Given the description of an element on the screen output the (x, y) to click on. 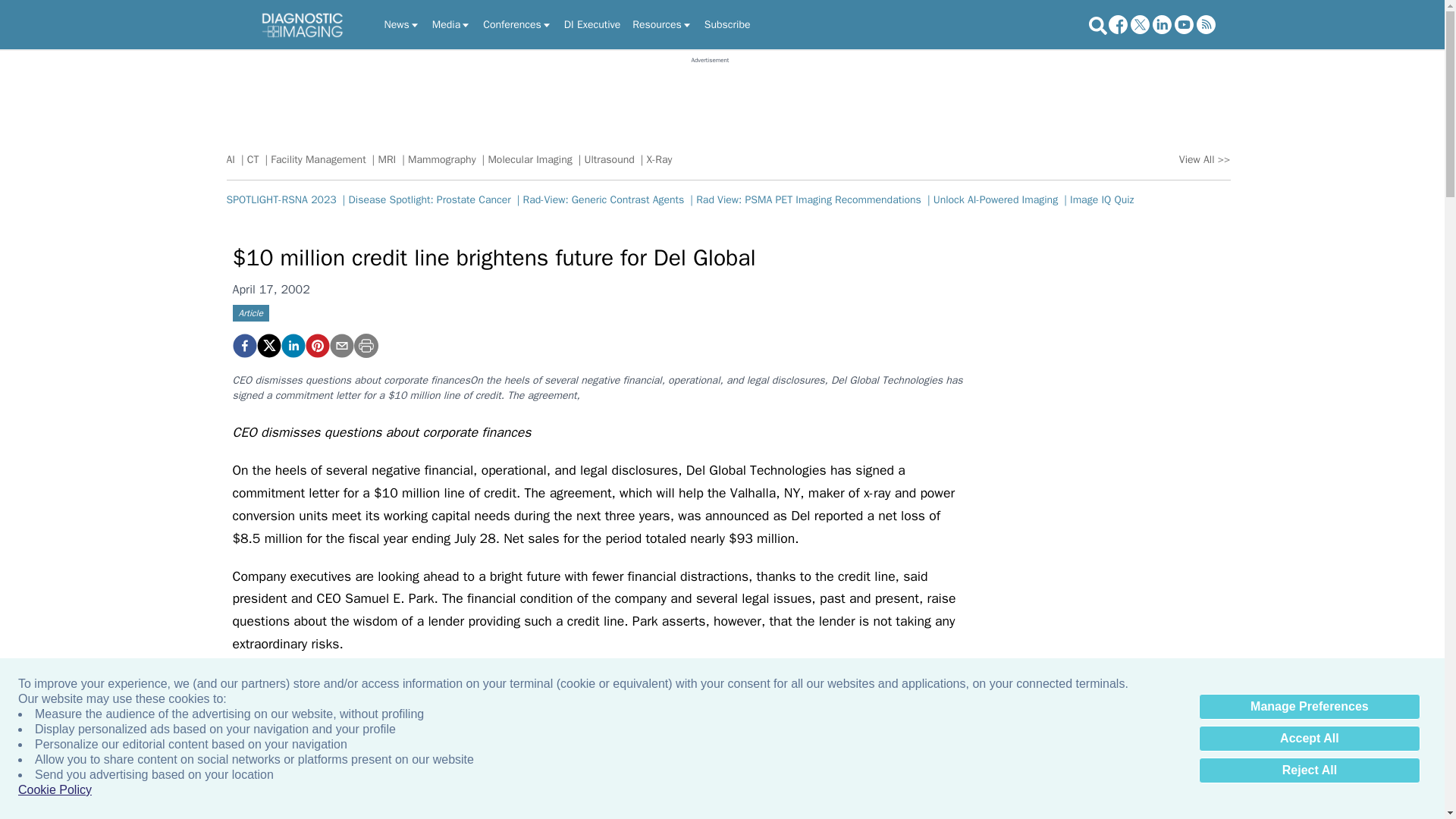
Subscribe (727, 23)
Accept All (1309, 738)
3rd party ad content (709, 98)
Manage Preferences (1309, 706)
Cookie Policy (54, 789)
Reject All (1309, 769)
DI Executive (592, 23)
